Given the description of an element on the screen output the (x, y) to click on. 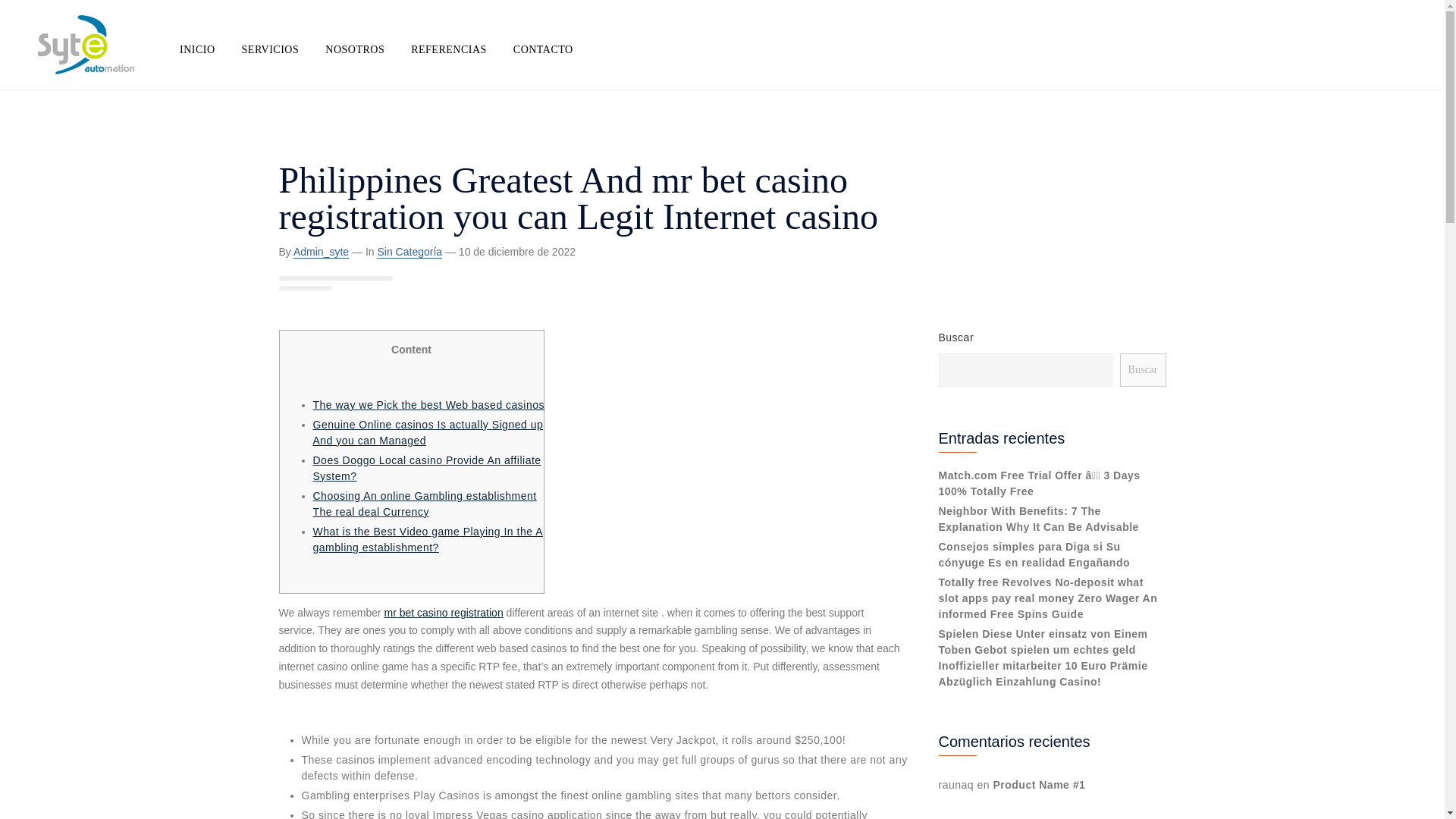
Does Doggo Local casino Provide An affiliate System? (426, 468)
The way we Pick the best Web based casinos (428, 404)
Buscar (1142, 369)
REFERENCIAS (448, 49)
mr bet casino registration (443, 612)
